Given the description of an element on the screen output the (x, y) to click on. 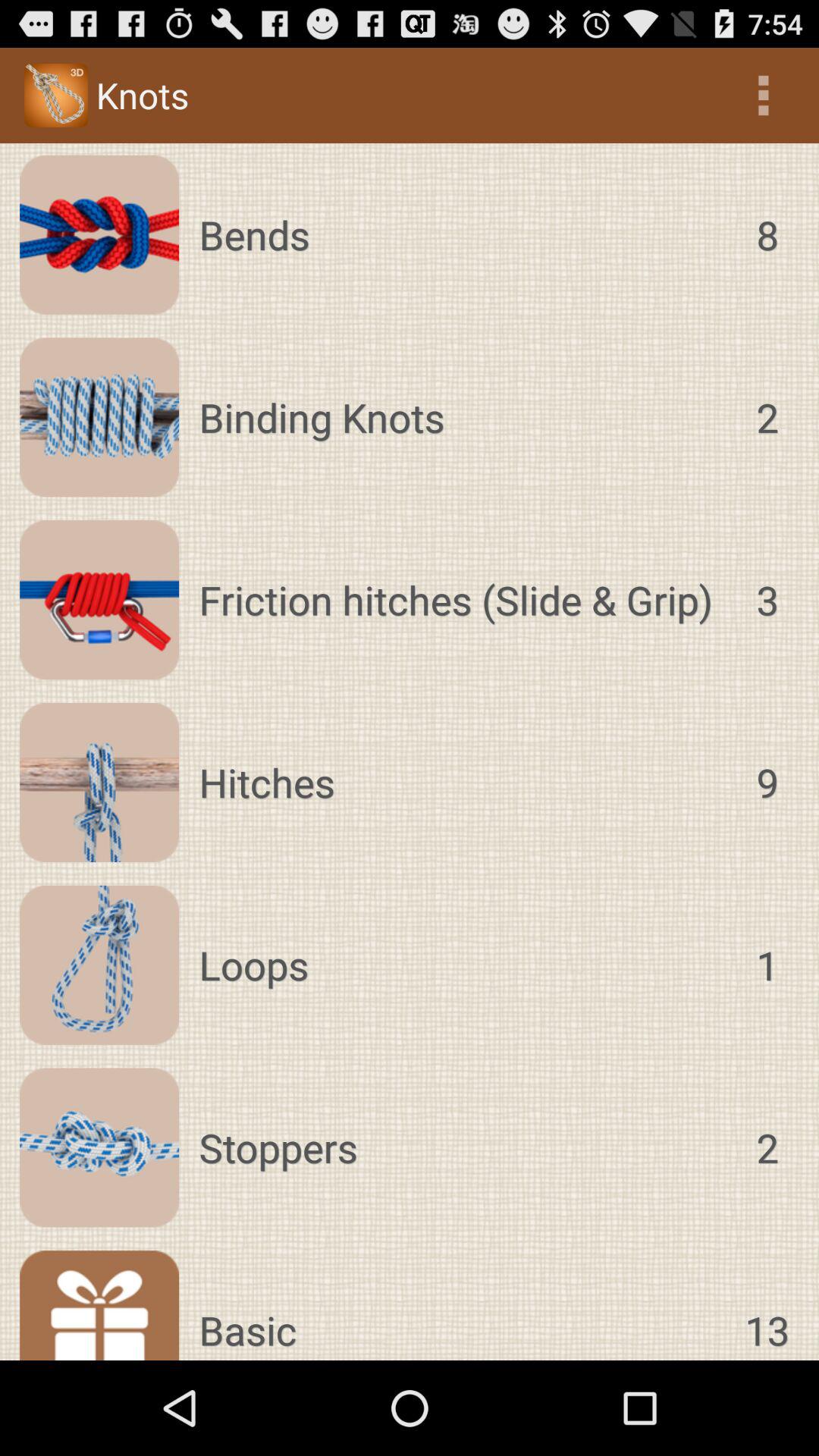
select the item below binding knots item (463, 599)
